Given the description of an element on the screen output the (x, y) to click on. 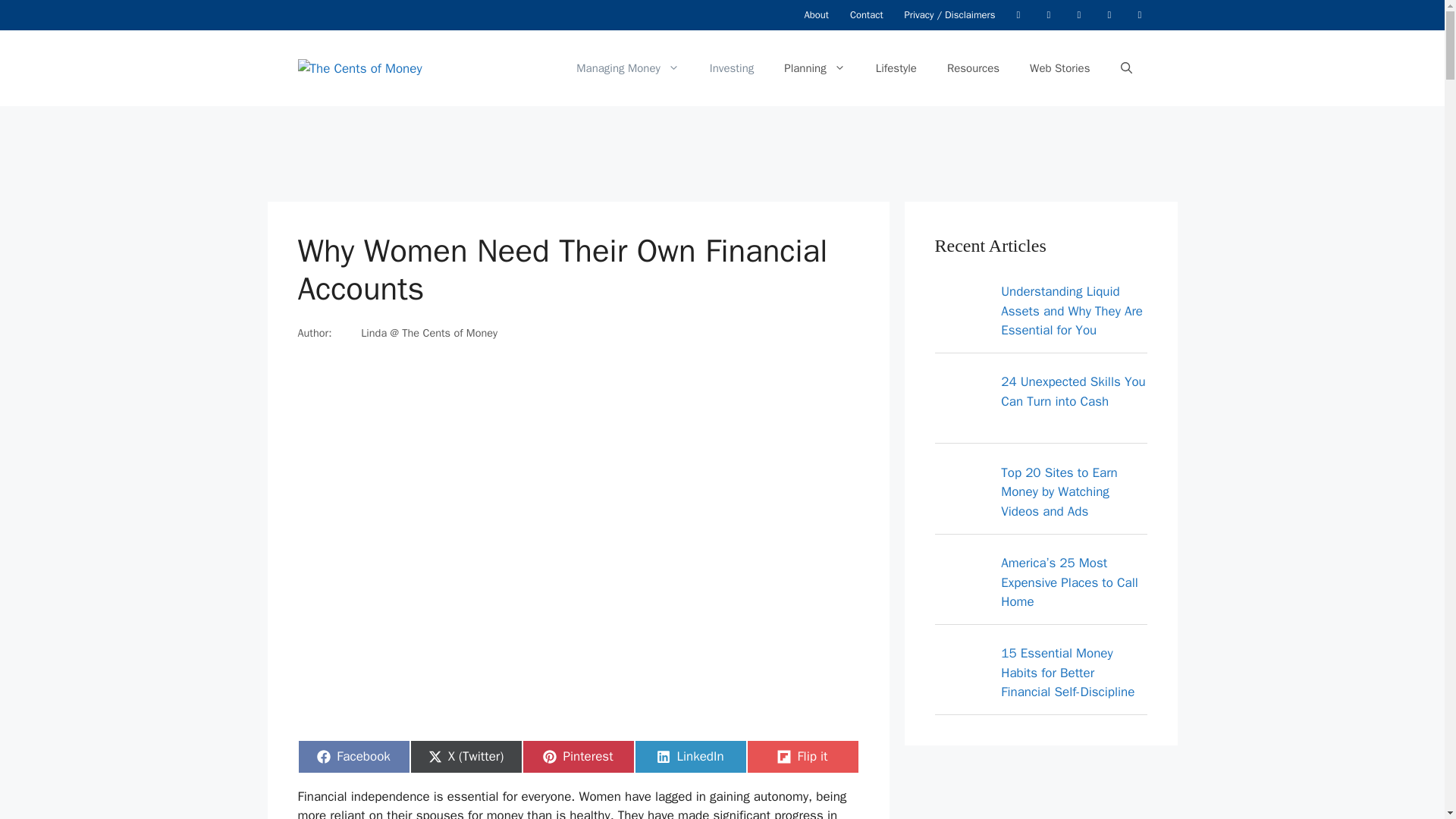
Contact (866, 15)
Lifestyle (689, 756)
Managing Money (895, 67)
Planning (627, 67)
The Cents of Money (577, 756)
24 Unexpected Skills You Can Turn into Cash 3 (814, 67)
America's 25 Most Expensive Places to Call Home 5 (359, 67)
Why Women Need Their Own Financial Accounts 1 (962, 404)
Resources (962, 585)
The Cents of Money (972, 67)
Top 20 Sites to Earn Money by Watching Videos and Ads 4 (353, 756)
